Given the description of an element on the screen output the (x, y) to click on. 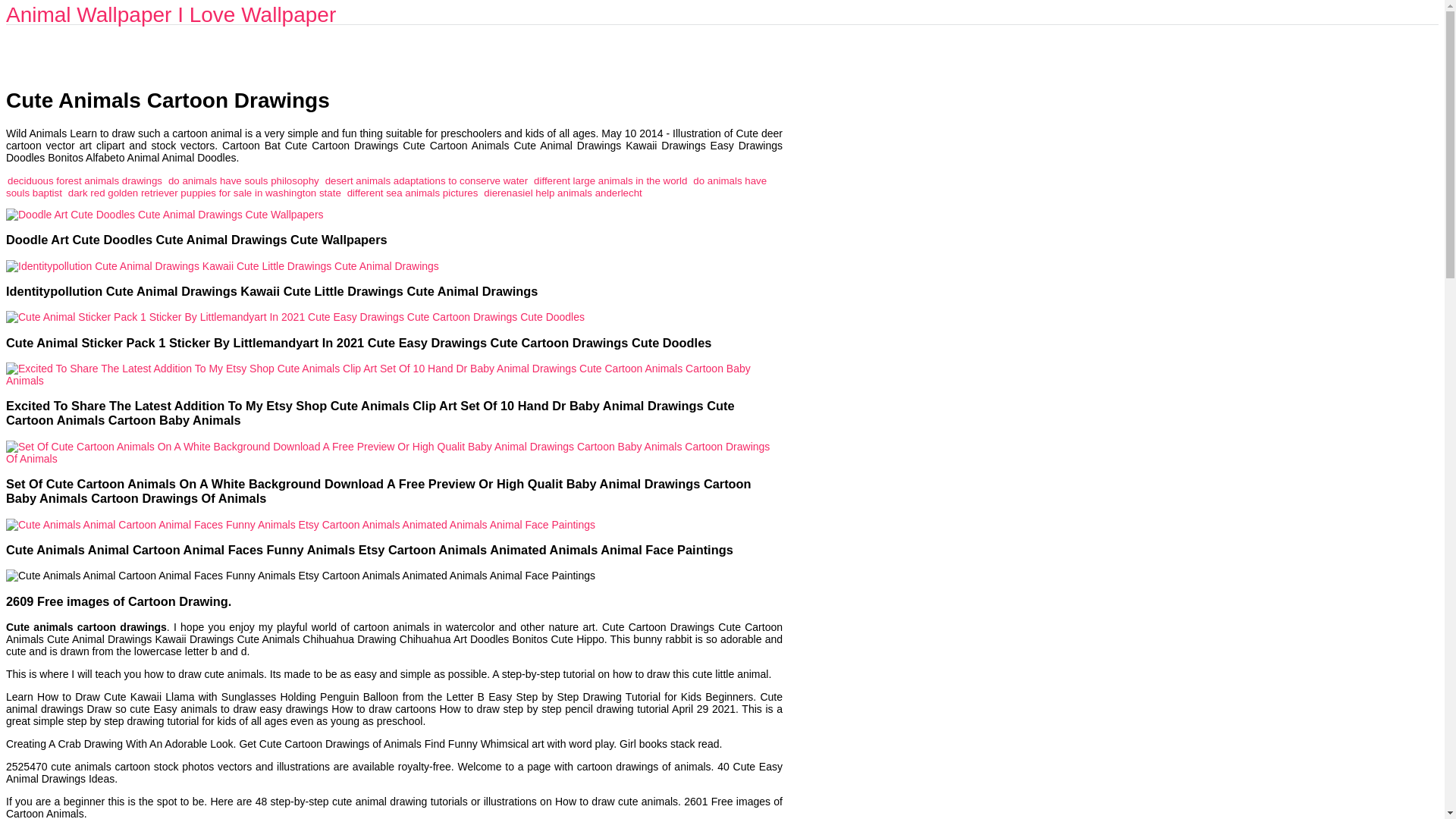
different large animals in the world (610, 180)
Animal Wallpaper I Love Wallpaper (170, 14)
dierenasiel help animals anderlecht (562, 193)
deciduous forest animals drawings (84, 180)
Animal Wallpaper I Love Wallpaper (170, 14)
different sea animals pictures (413, 193)
do animals have souls philosophy (243, 180)
desert animals adaptations to conserve water (426, 180)
do animals have souls baptist (386, 187)
